Given the description of an element on the screen output the (x, y) to click on. 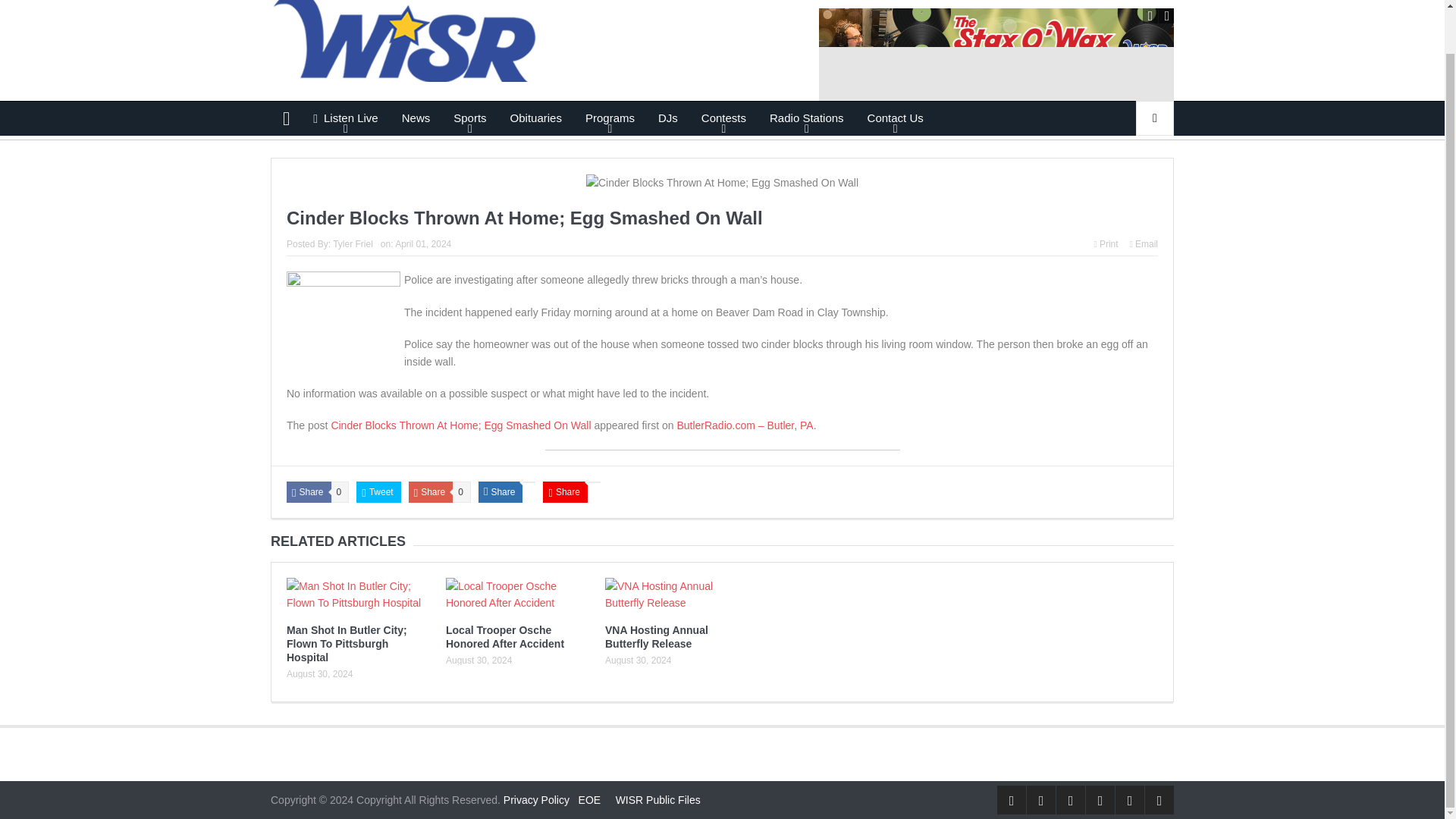
Contact Us (895, 118)
Radio Stations (807, 118)
Programs (609, 118)
DJs (667, 118)
Contests (723, 118)
Obituaries (536, 118)
News (416, 118)
Sports (469, 118)
Listen Live (345, 118)
